Given the description of an element on the screen output the (x, y) to click on. 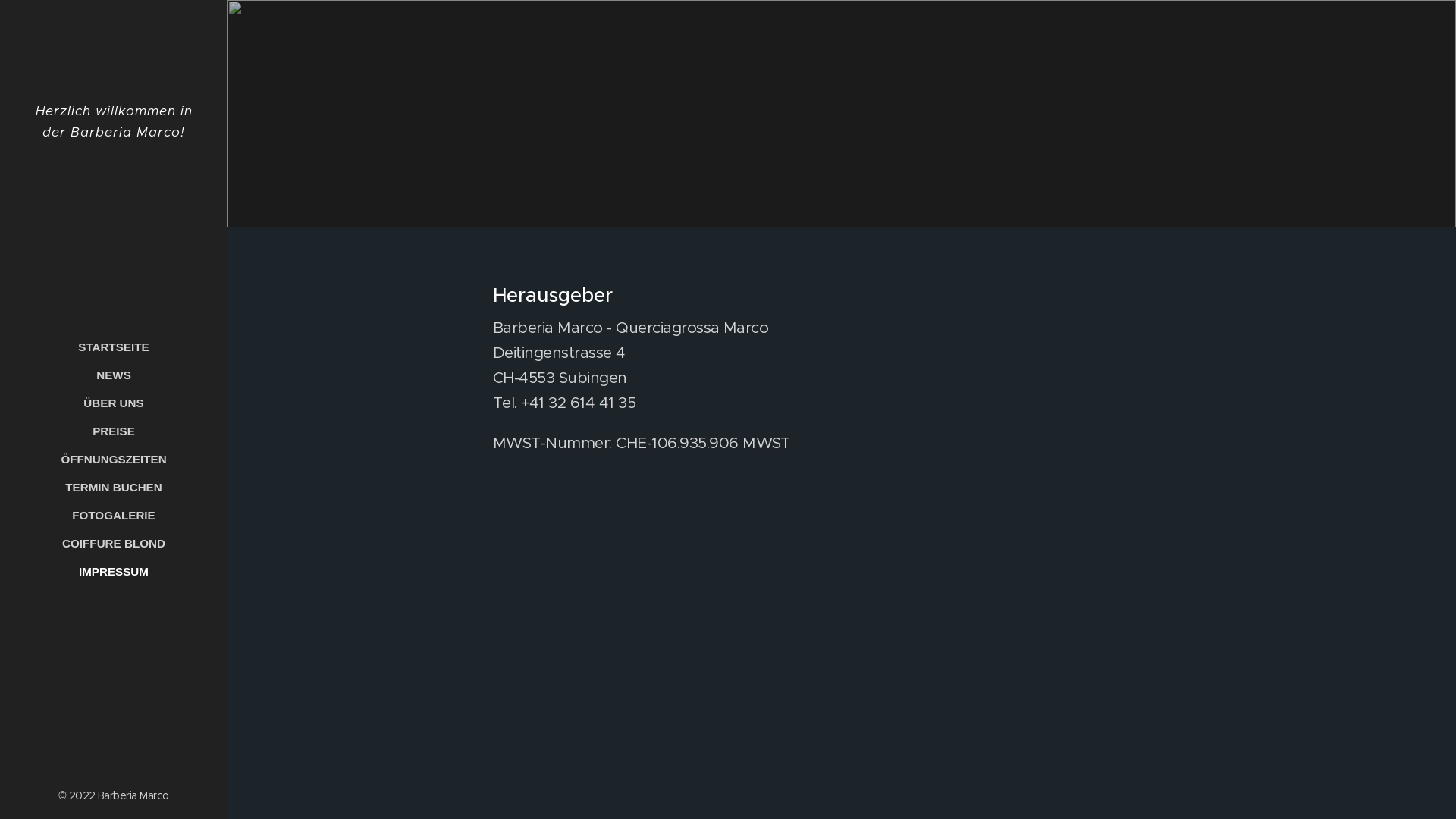
STARTSEITE Element type: text (113, 346)
FOTOGALERIE Element type: text (113, 515)
NEWS Element type: text (113, 374)
COIFFURE BLOND Element type: text (113, 543)
TERMIN BUCHEN Element type: text (113, 486)
IMPRESSUM Element type: text (113, 571)
PREISE Element type: text (113, 430)
